Given the description of an element on the screen output the (x, y) to click on. 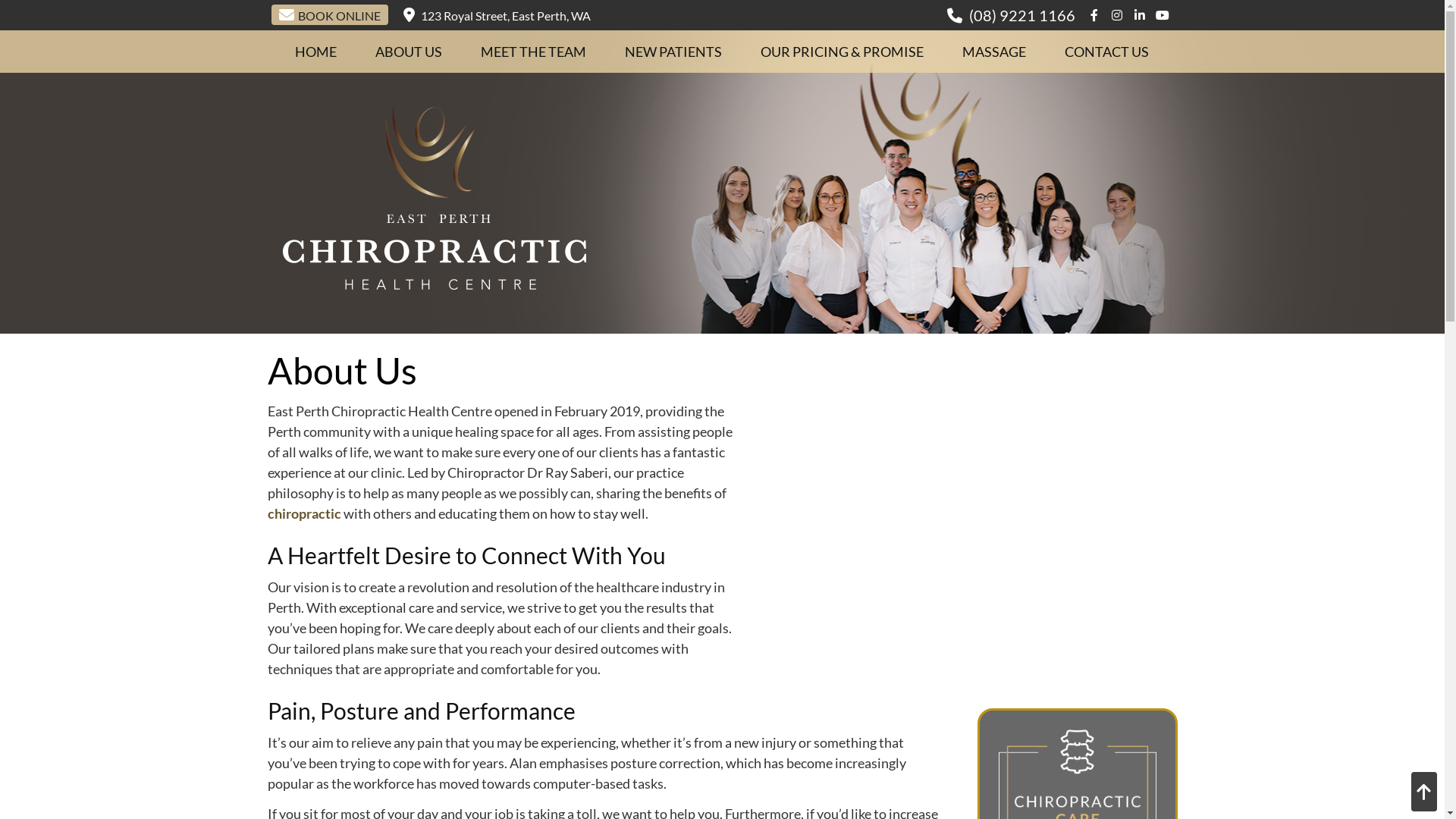
chiropractic Element type: text (303, 513)
CONTACT US Element type: text (1106, 51)
Youtube Social Button Element type: text (1161, 10)
Instagram Social Button Element type: text (1116, 10)
ABOUT US Element type: text (408, 51)
NEW PATIENTS Element type: text (673, 51)
HOME Element type: text (316, 51)
Linkedin Social Button Element type: text (1138, 10)
(08) 9221 1166 Element type: text (1022, 15)
Facebook Social Button Element type: text (1093, 10)
East Perth Chiropractic Health Centre Element type: text (433, 284)
123 Royal Street, East Perth, WA Element type: text (496, 12)
MEET THE TEAM Element type: text (533, 51)
OUR PRICING & PROMISE Element type: text (842, 51)
BOOK ONLINE Element type: text (329, 14)
MASSAGE Element type: text (994, 51)
